Given the description of an element on the screen output the (x, y) to click on. 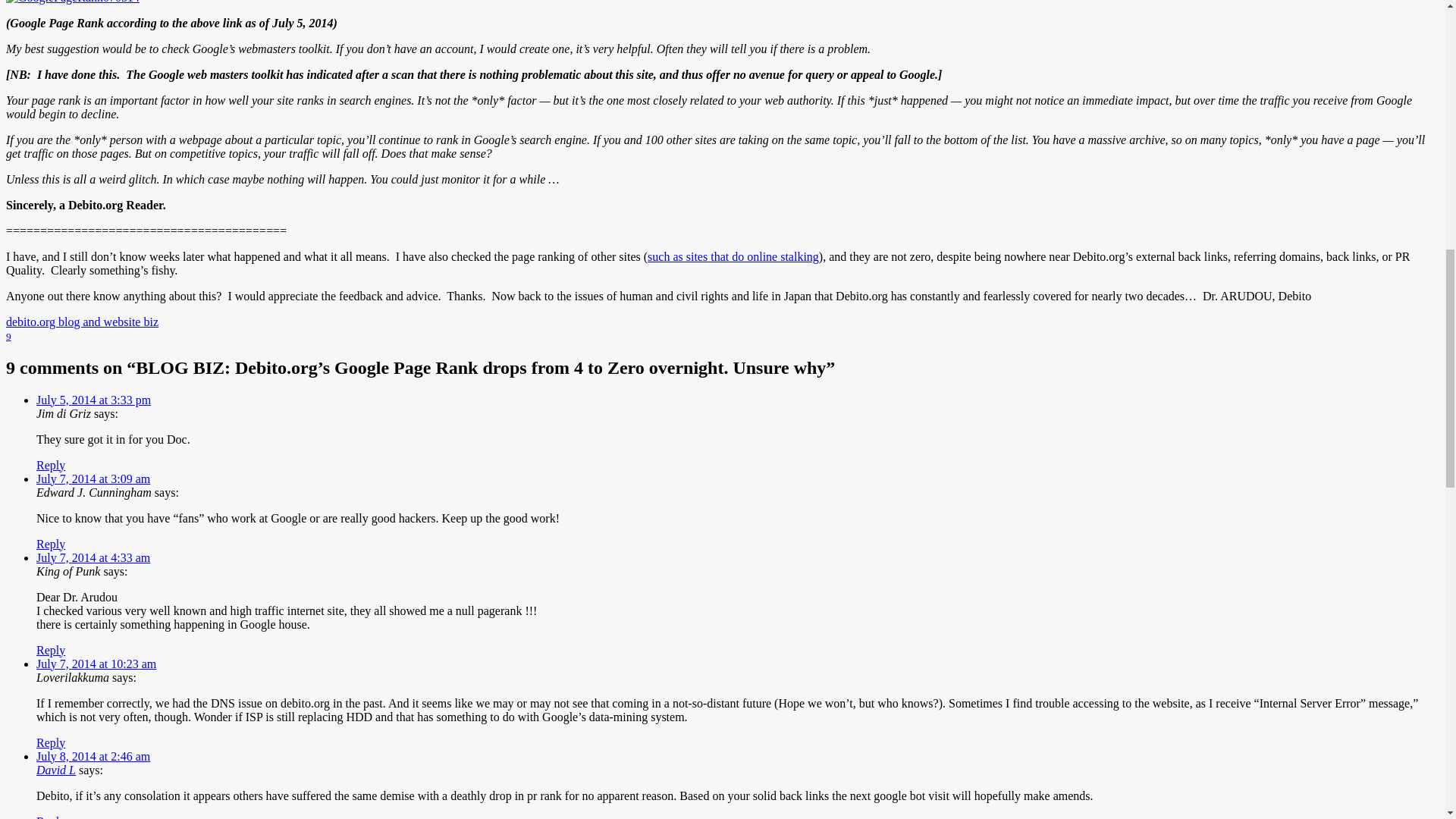
Reply (50, 463)
debito.org blog and website biz (81, 321)
such as sites that do online stalking (732, 256)
July 7, 2014 at 3:09 am (92, 477)
Reply (50, 649)
July 7, 2014 at 4:33 am (92, 556)
July 5, 2014 at 3:33 pm (93, 399)
Reply (50, 543)
